Given the description of an element on the screen output the (x, y) to click on. 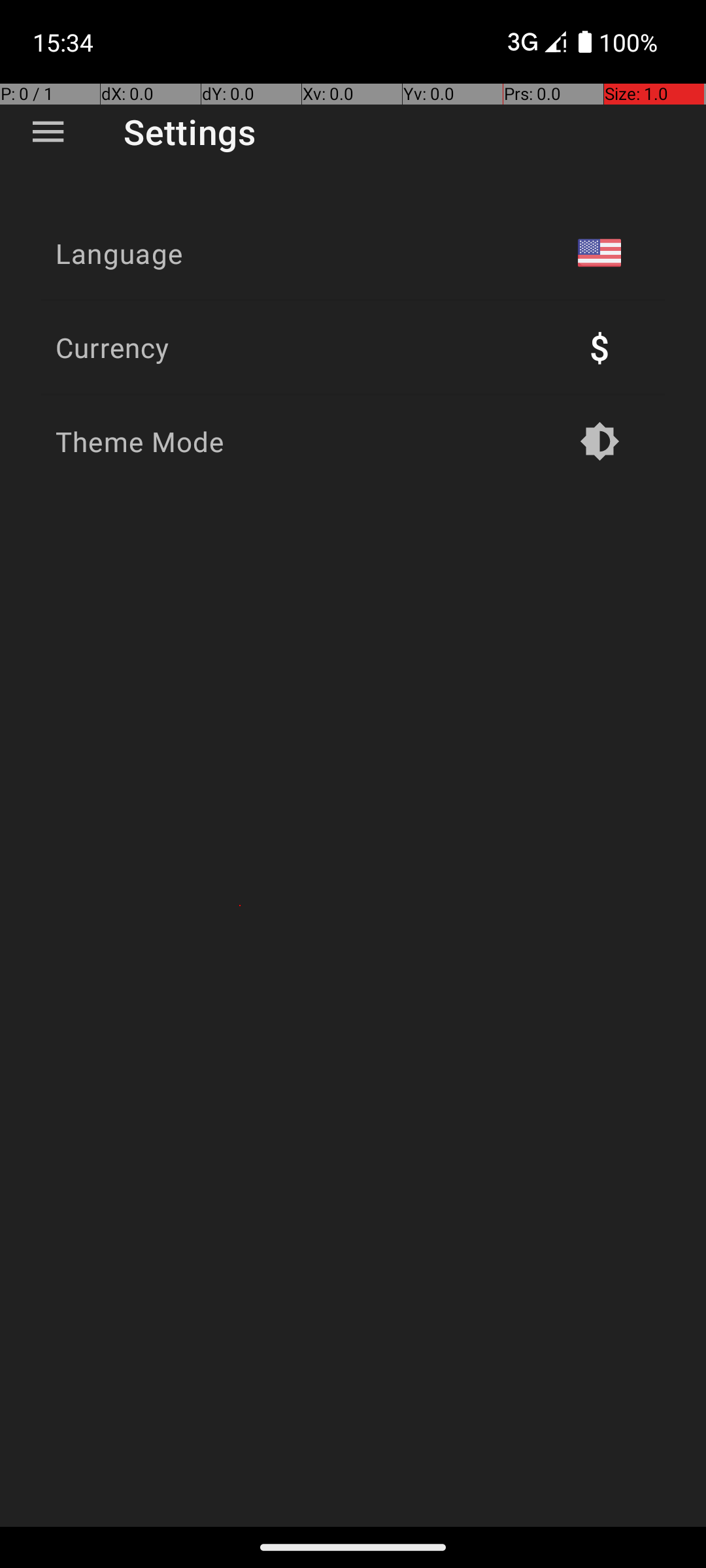
Language Element type: android.widget.TextView (118, 252)
Currency Element type: android.widget.TextView (111, 346)
$ Element type: android.widget.TextView (599, 347)
Theme Mode Element type: android.widget.TextView (139, 440)
